Given the description of an element on the screen output the (x, y) to click on. 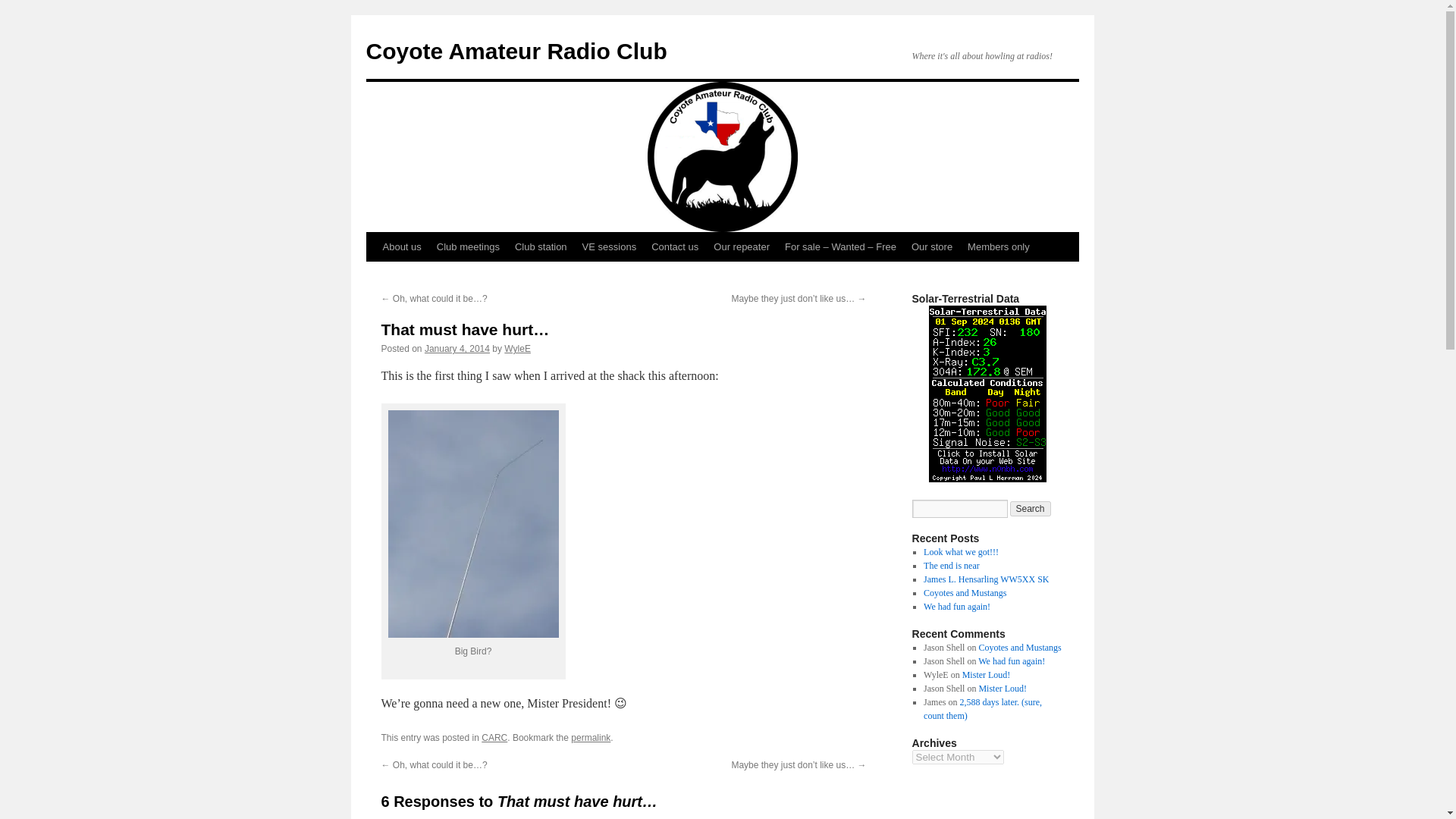
Search (1030, 508)
CARC (493, 737)
Club station (540, 246)
permalink (590, 737)
9:30 pm (457, 348)
Coyote Amateur Radio Club (515, 50)
Club meetings (467, 246)
VE sessions (610, 246)
Members only (997, 246)
WyleE (517, 348)
